Given the description of an element on the screen output the (x, y) to click on. 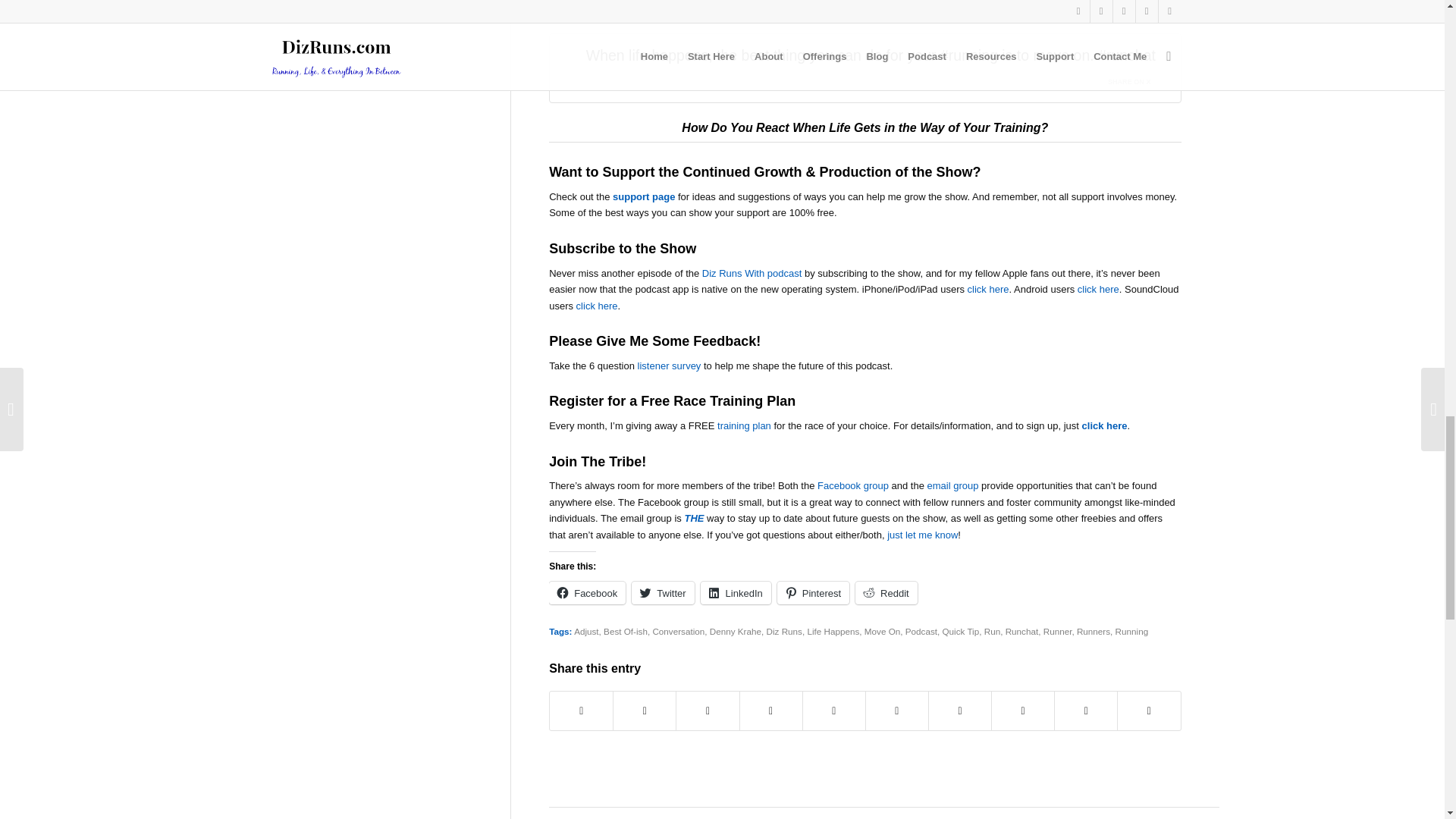
Diz Runs With (721, 273)
support page (643, 196)
SHARE ON X (1138, 78)
